Given the description of an element on the screen output the (x, y) to click on. 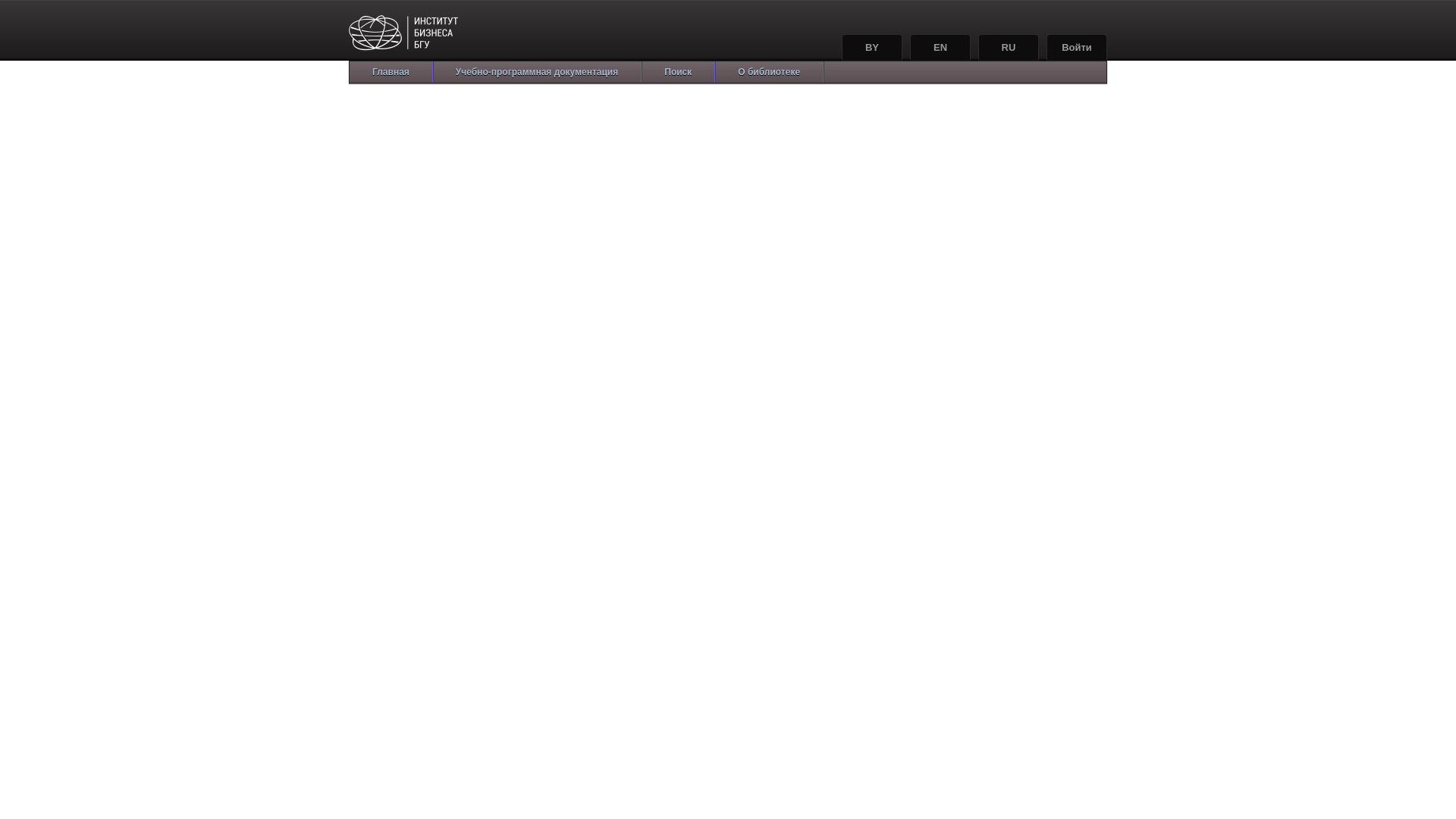
EN Element type: text (940, 47)
BY Element type: text (871, 47)
RU Element type: text (1008, 47)
Free CSS Templates Element type: text (441, 35)
